Given the description of an element on the screen output the (x, y) to click on. 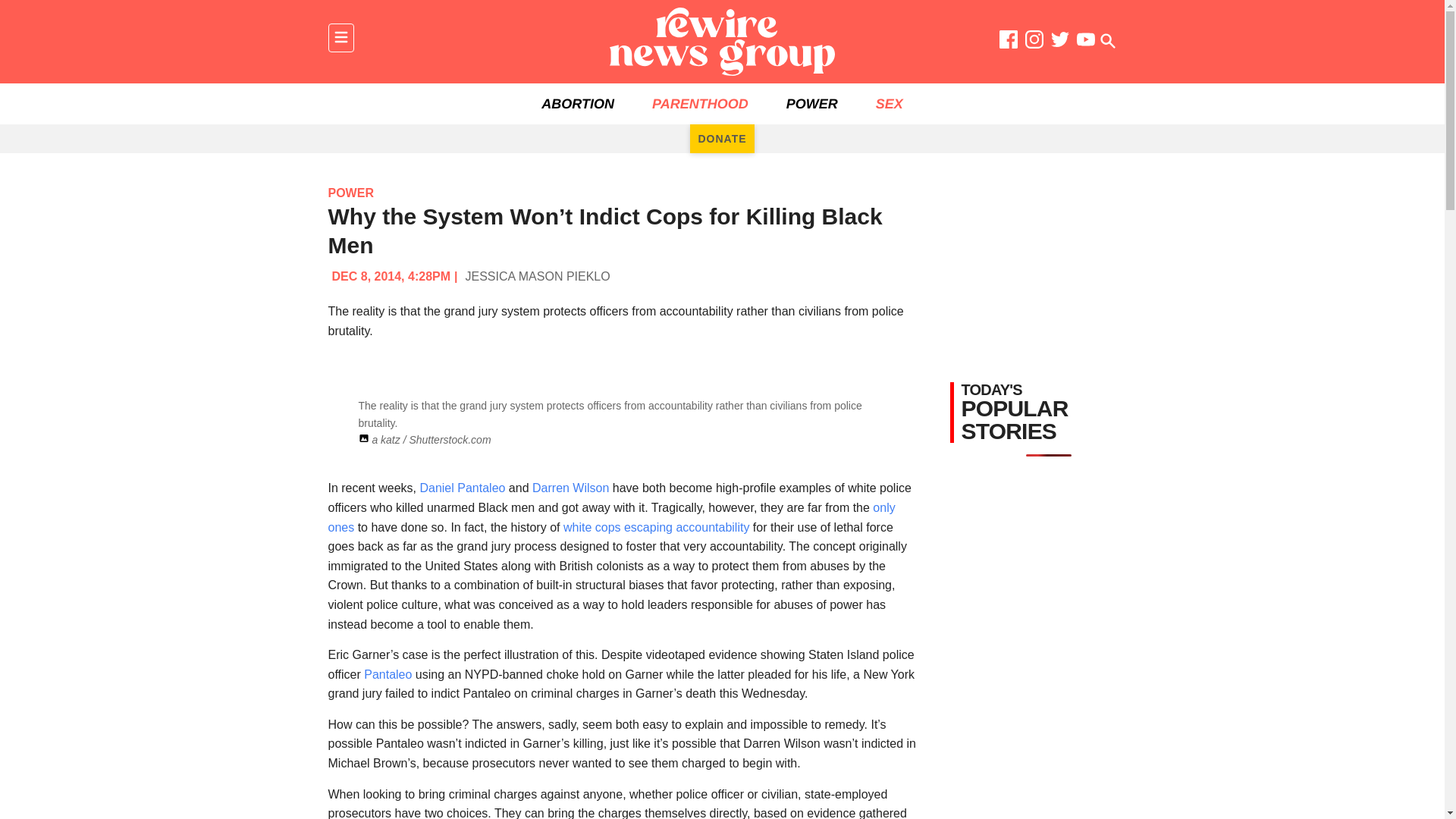
PARENTHOOD (700, 103)
POWER (812, 103)
Daniel Pantaleo (462, 487)
white cops escaping accountability (654, 526)
FACEBOOK (1007, 41)
only ones (611, 517)
Pantaleo (388, 674)
INSTAGRAM (1034, 41)
DONATE (722, 138)
POWER (349, 192)
